Given the description of an element on the screen output the (x, y) to click on. 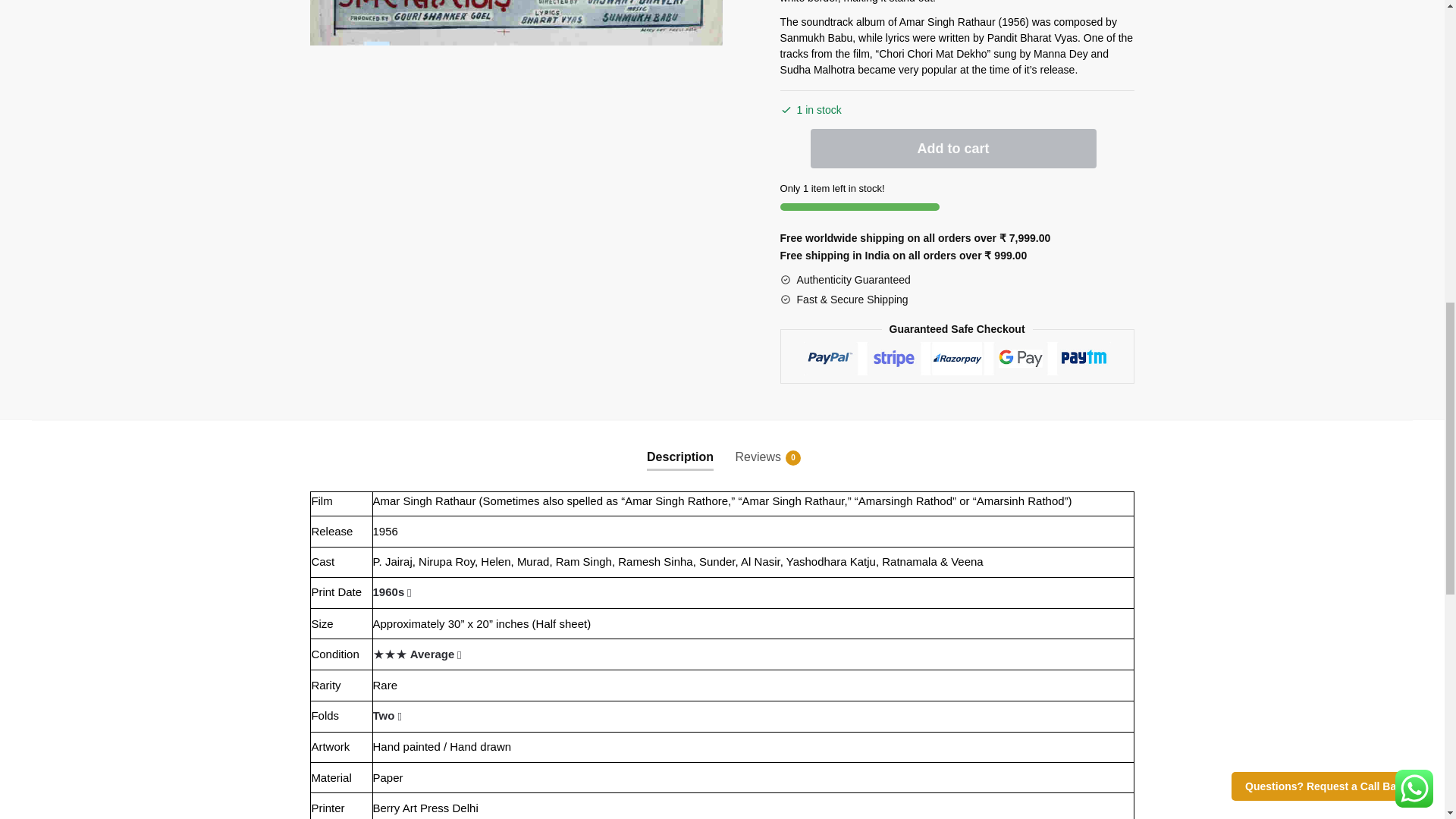
Historical movie poster for sale: Amar Singh Rathod 1956 (516, 22)
